Given the description of an element on the screen output the (x, y) to click on. 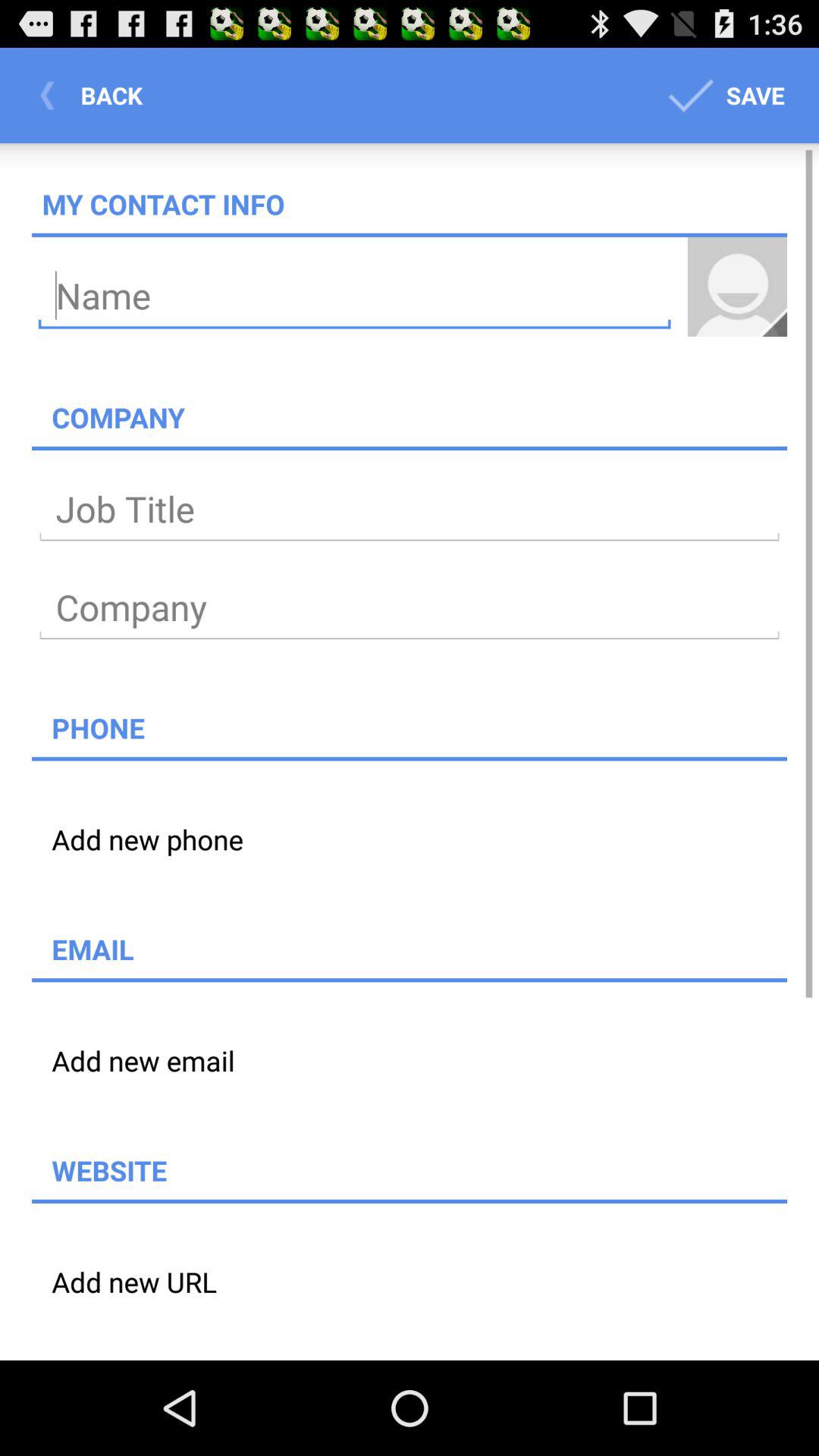
profile picture (737, 286)
